Given the description of an element on the screen output the (x, y) to click on. 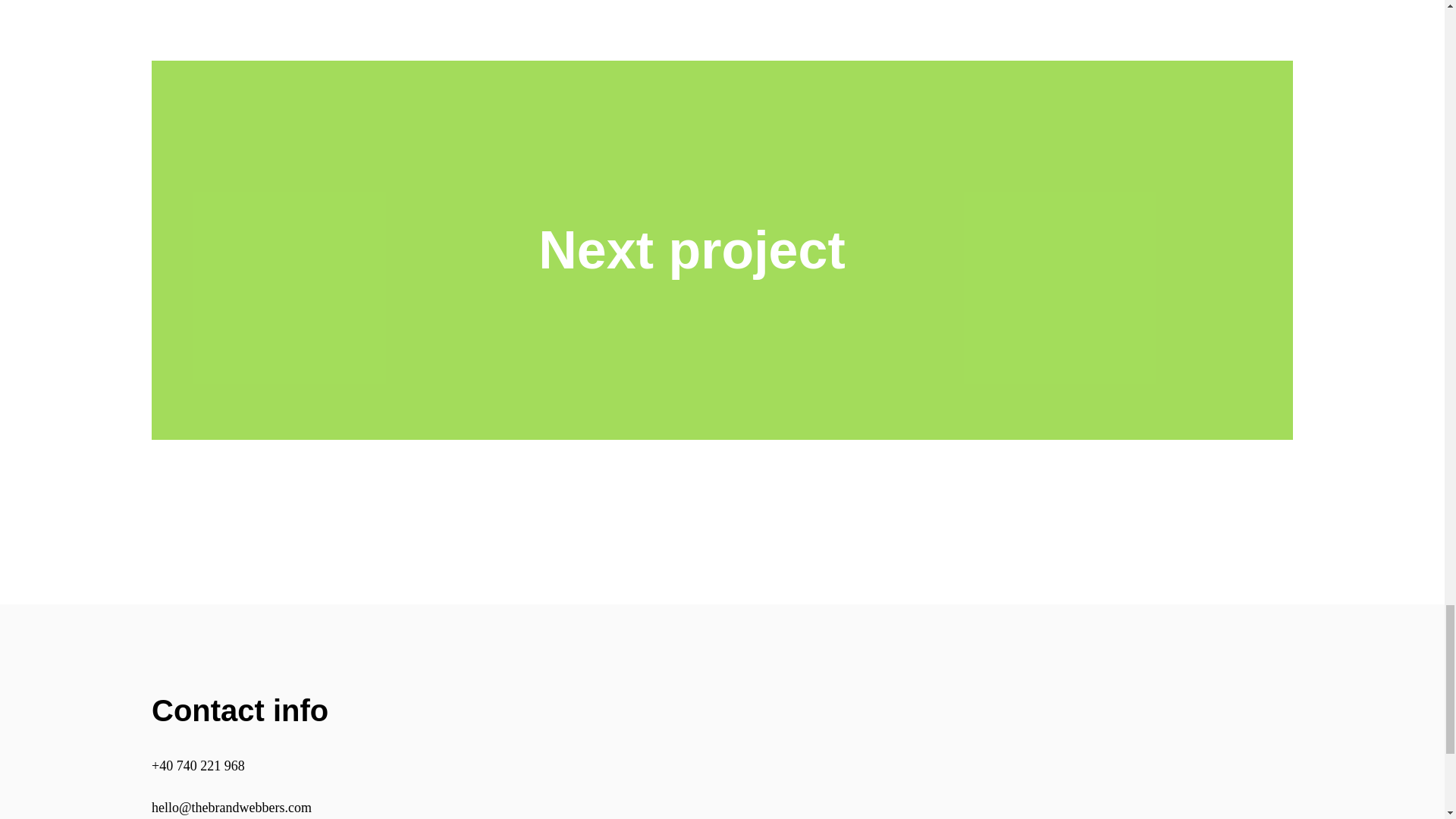
Next project (721, 435)
